Given the description of an element on the screen output the (x, y) to click on. 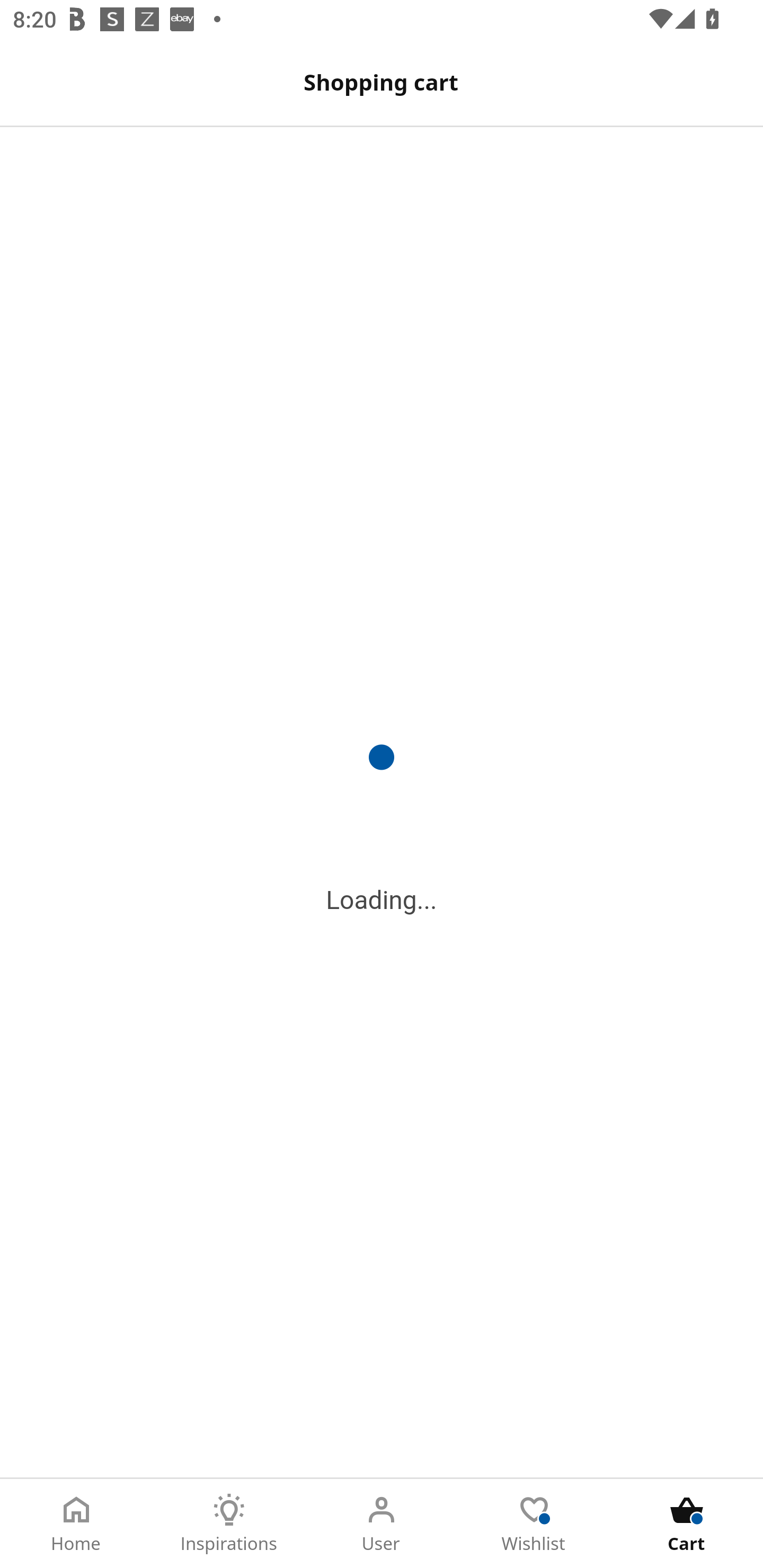
Home
Tab 1 of 5 (76, 1522)
Inspirations
Tab 2 of 5 (228, 1522)
User
Tab 3 of 5 (381, 1522)
Wishlist
Tab 4 of 5 (533, 1522)
Cart
Tab 5 of 5 (686, 1522)
